Given the description of an element on the screen output the (x, y) to click on. 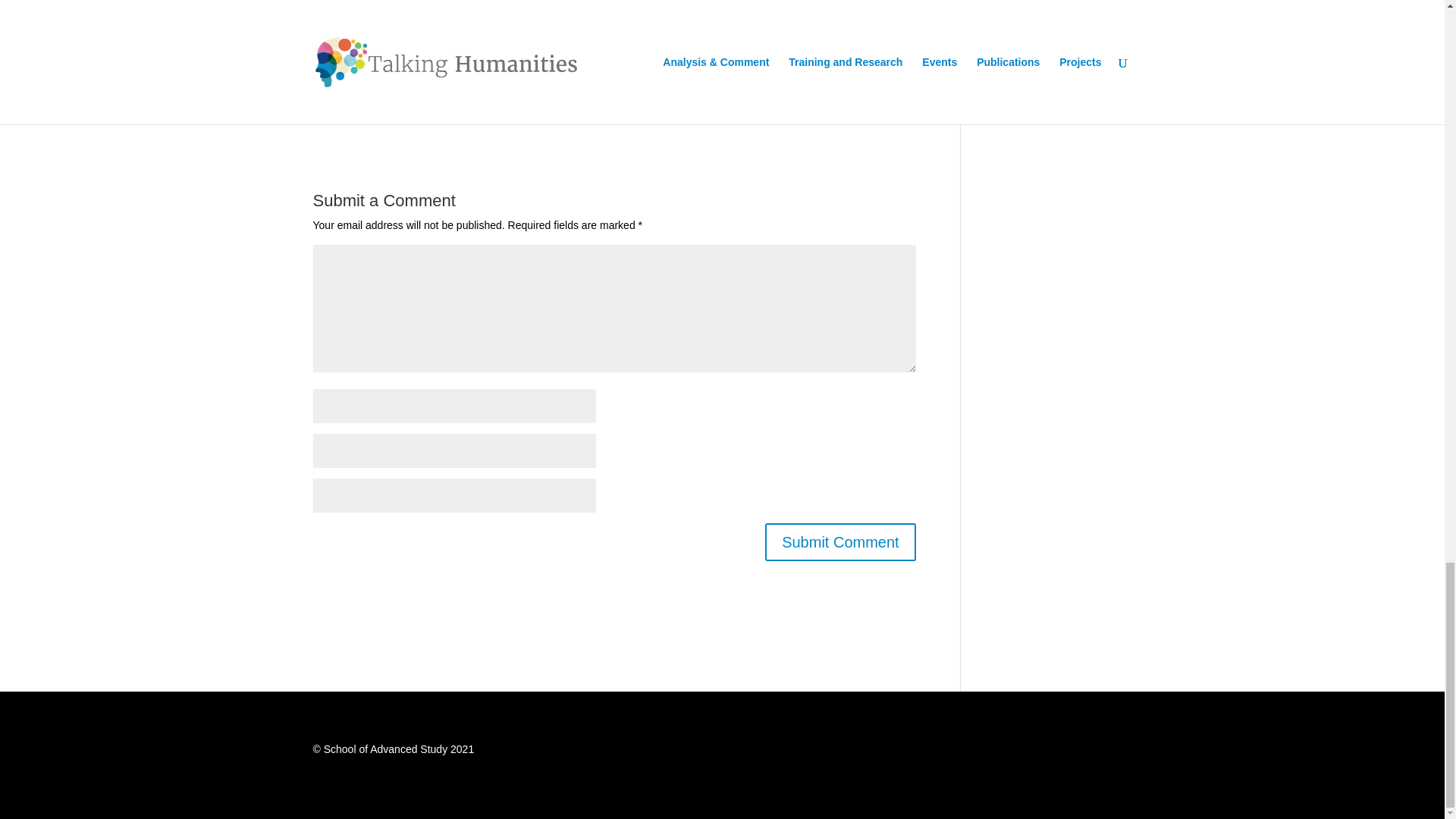
Submit Comment (840, 542)
Mute (853, 2)
Play (331, 2)
website (633, 47)
